Given the description of an element on the screen output the (x, y) to click on. 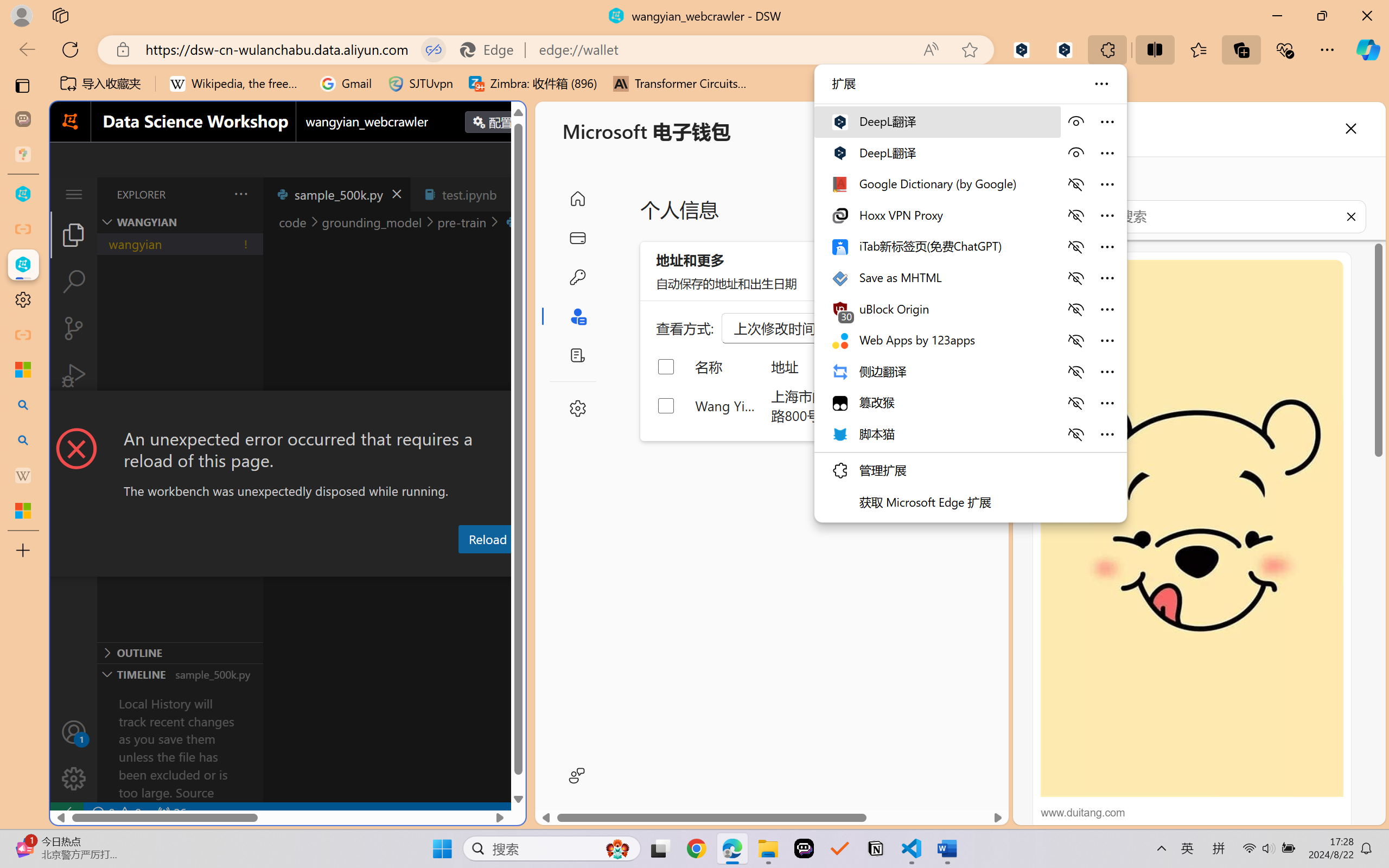
Explorer Section: wangyian (179, 221)
test.ipynb (468, 194)
wangyian_webcrawler - DSW (22, 264)
Gmail (345, 83)
